Given the description of an element on the screen output the (x, y) to click on. 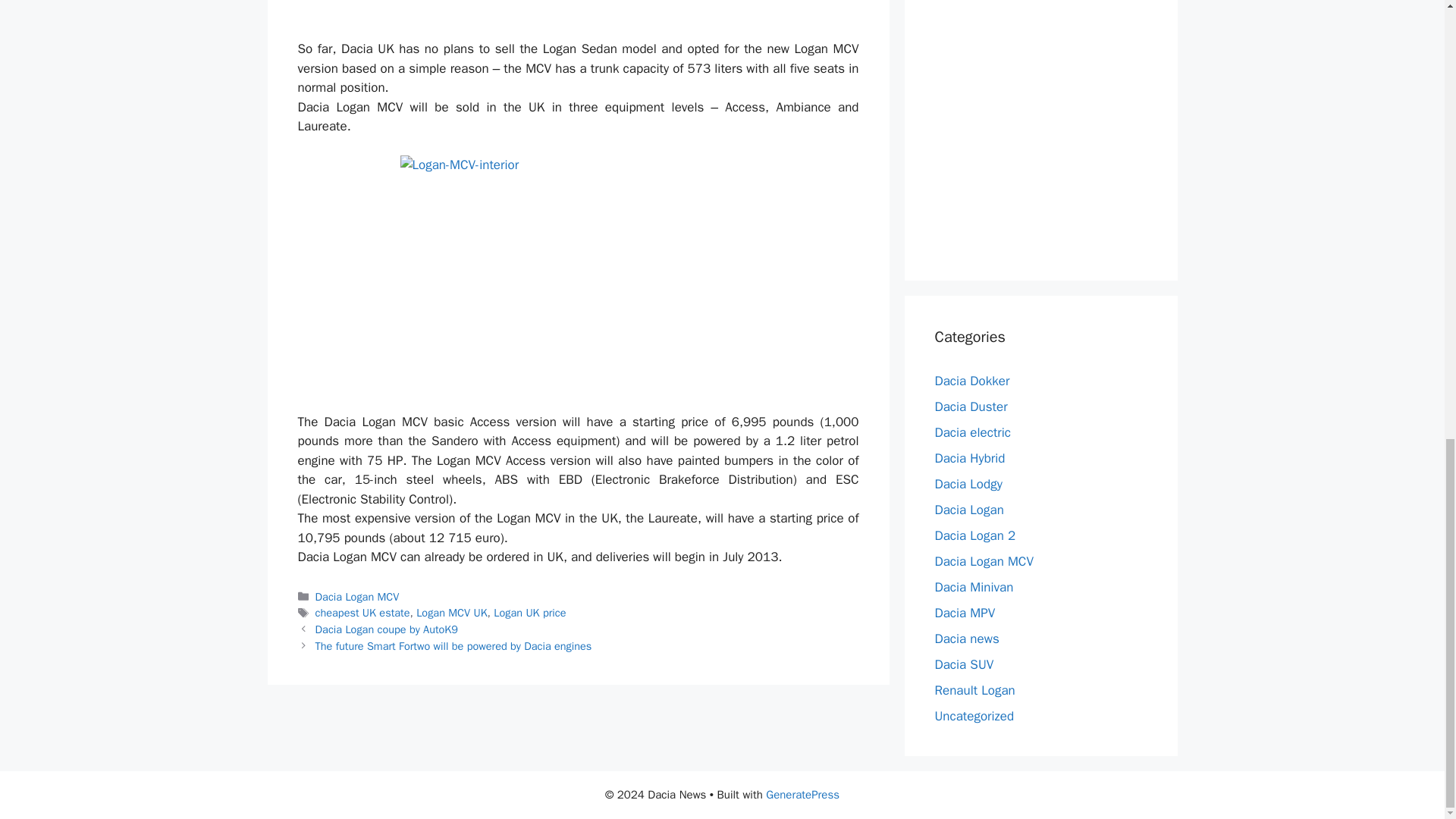
Logan-MCV-back (578, 10)
Dacia news (966, 637)
Dacia Hybrid (969, 457)
Dacia Logan MCV (983, 560)
Renault Logan (974, 689)
Logan-MCV-interior (578, 274)
Logan MCV UK (451, 612)
Dacia Logan MCV (356, 596)
Dacia Lodgy (967, 483)
Dacia Logan (968, 508)
GeneratePress (802, 794)
Uncategorized (973, 715)
cheapest UK estate (362, 612)
Logan UK price (529, 612)
Dacia electric (972, 431)
